Given the description of an element on the screen output the (x, y) to click on. 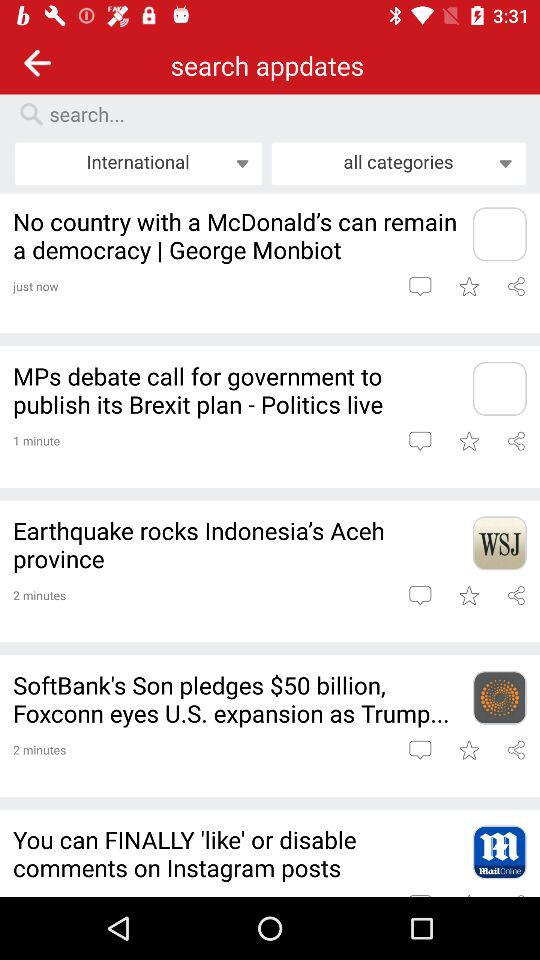
save to favorites (468, 749)
